Given the description of an element on the screen output the (x, y) to click on. 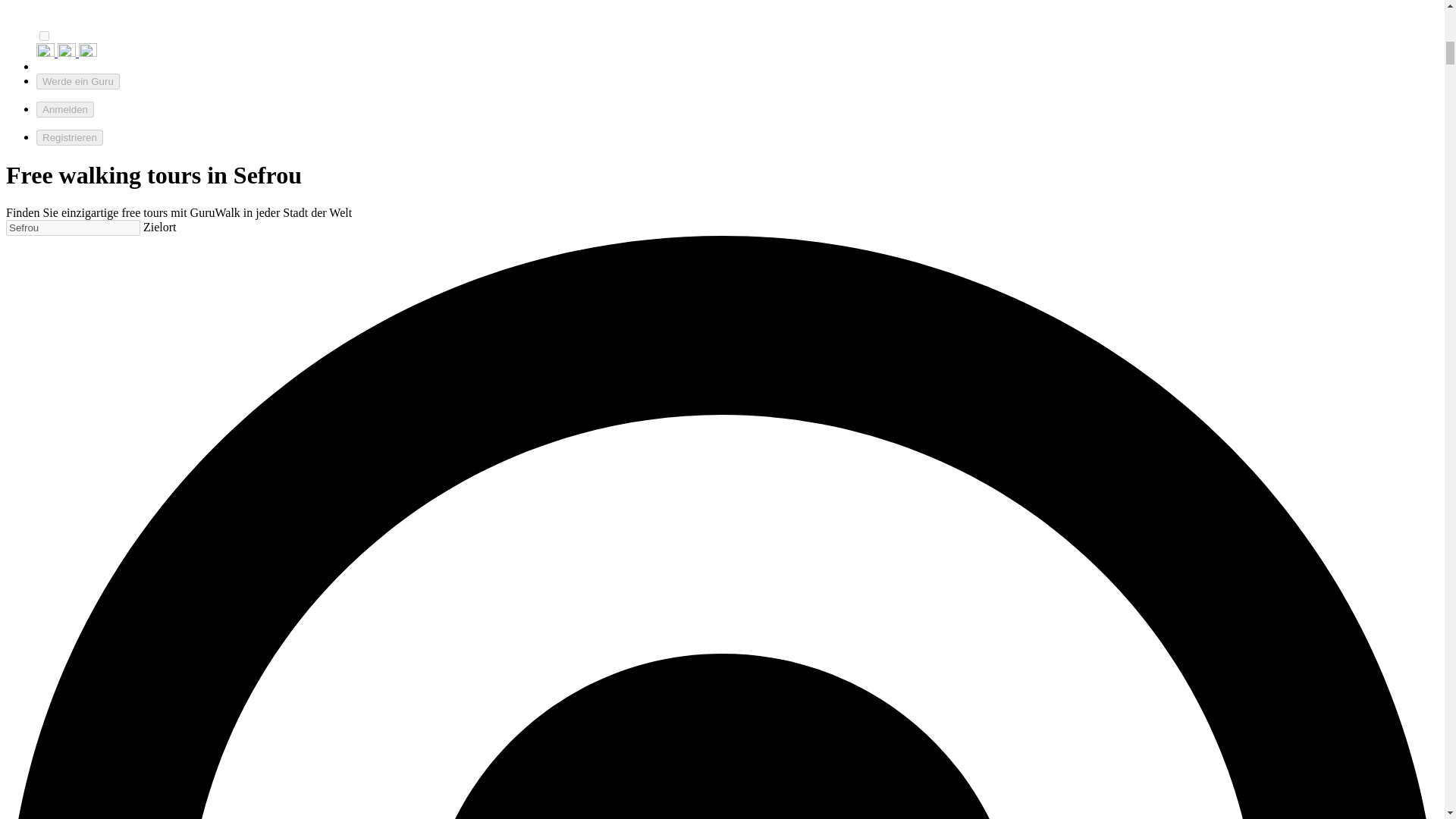
on (44, 35)
Sefrou (72, 227)
Anmelden (65, 109)
Werde ein Guru (77, 81)
Registrieren (69, 137)
